Given the description of an element on the screen output the (x, y) to click on. 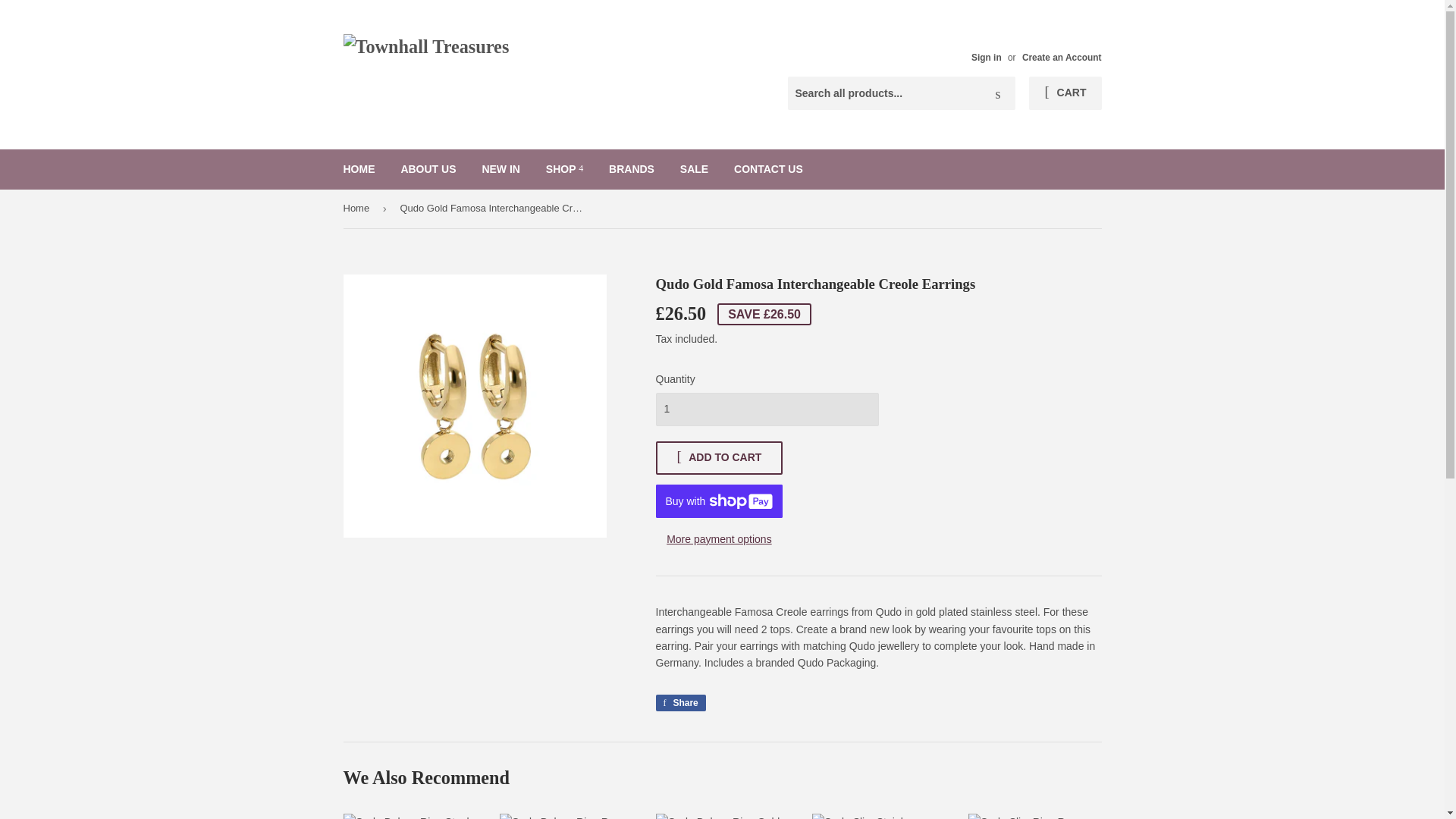
Create an Account (1062, 57)
Share on Facebook (679, 702)
Search (997, 93)
CART (1064, 92)
Sign in (986, 57)
1 (766, 409)
